Given the description of an element on the screen output the (x, y) to click on. 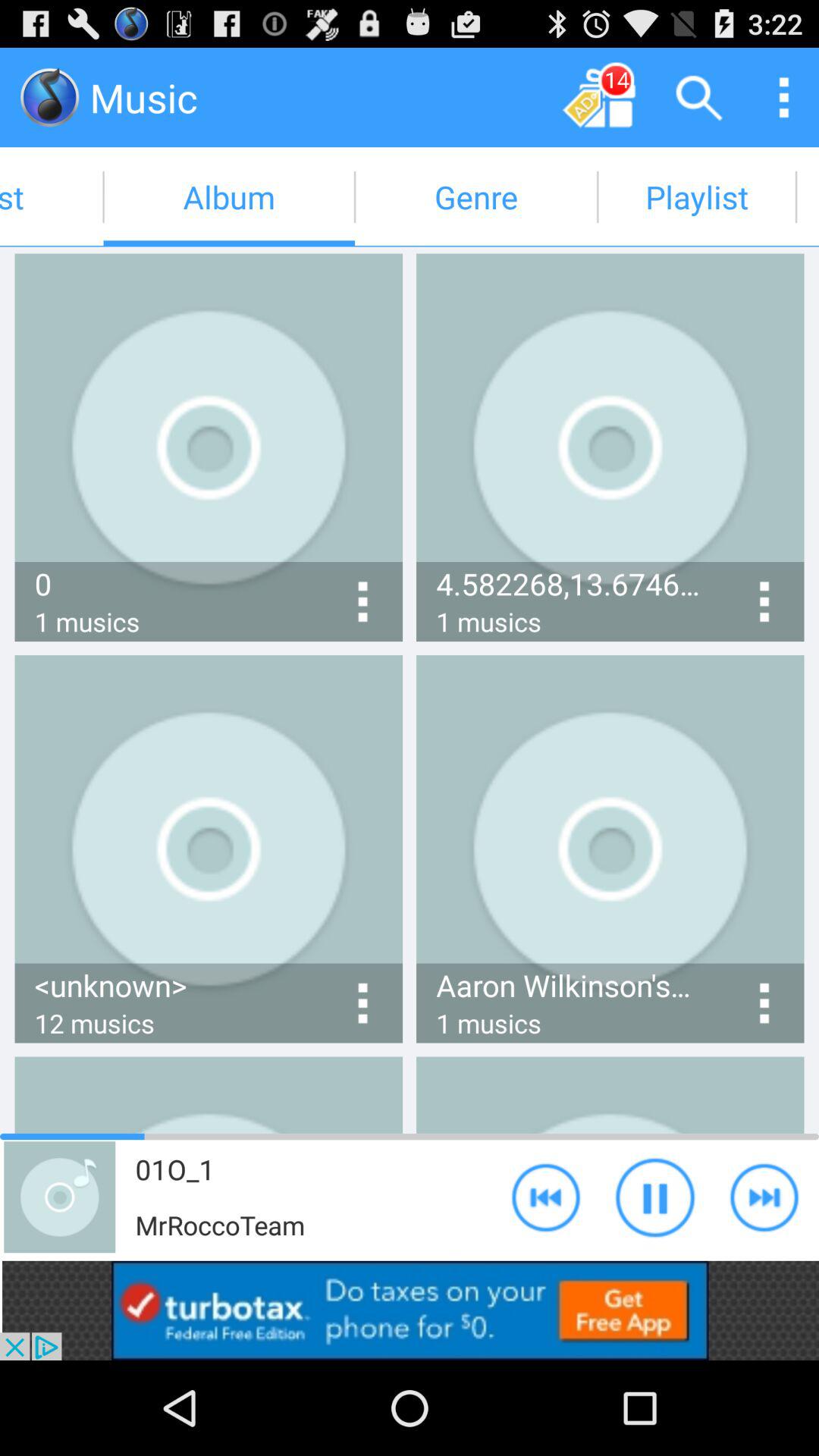
go back (545, 1196)
